Given the description of an element on the screen output the (x, y) to click on. 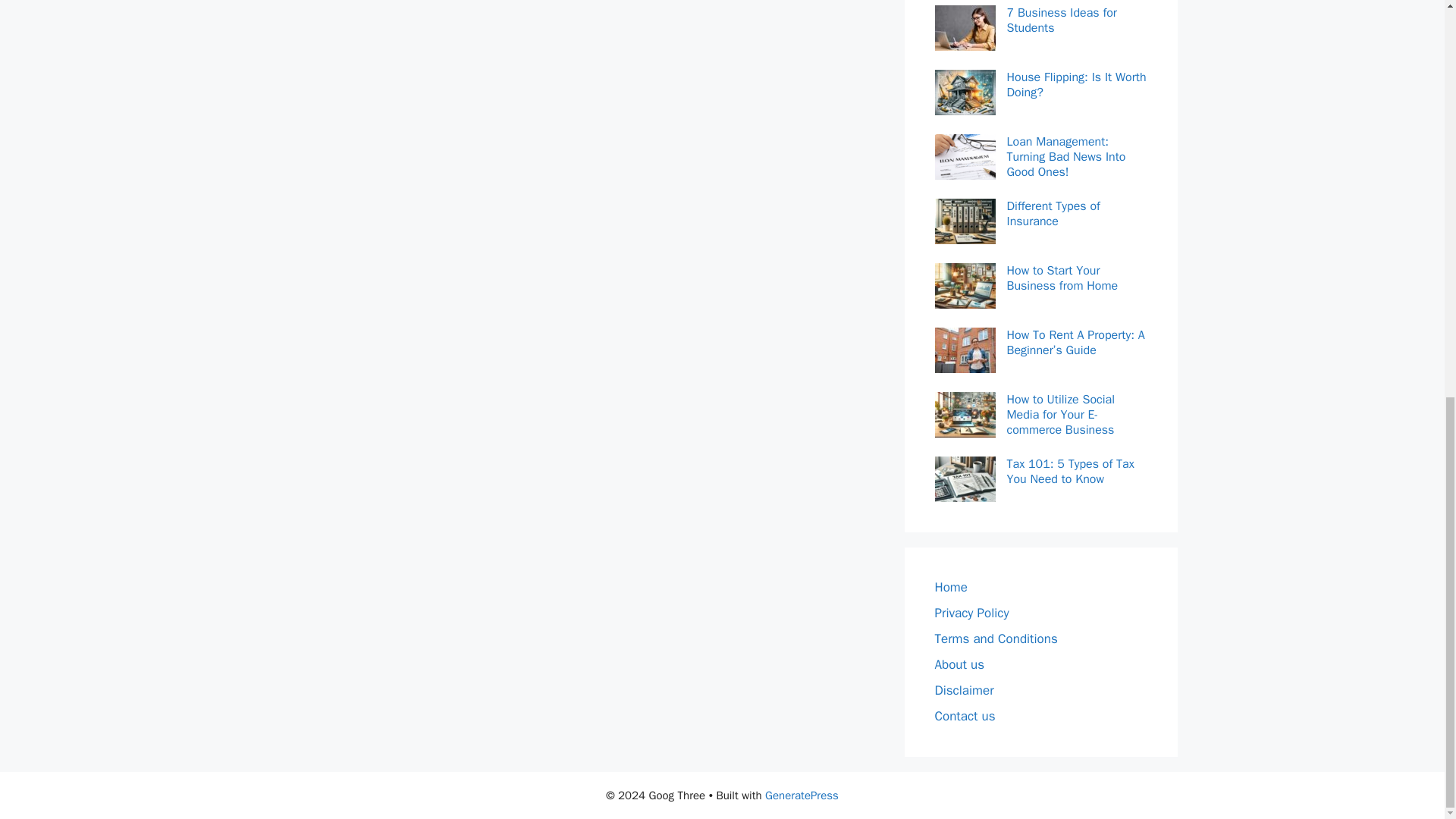
7 Business Ideas for Students  (1077, 20)
About us (959, 664)
Loan Management: Turning Bad News Into Good Ones! (1077, 156)
House Flipping: Is It Worth Doing? (1077, 84)
How to Utilize Social Media for Your E-commerce Business (1077, 414)
How to Start Your Business from Home (1077, 277)
Terms and Conditions (995, 638)
Privacy Policy (971, 612)
Different Types of Insurance (1077, 214)
Home (950, 587)
